Given the description of an element on the screen output the (x, y) to click on. 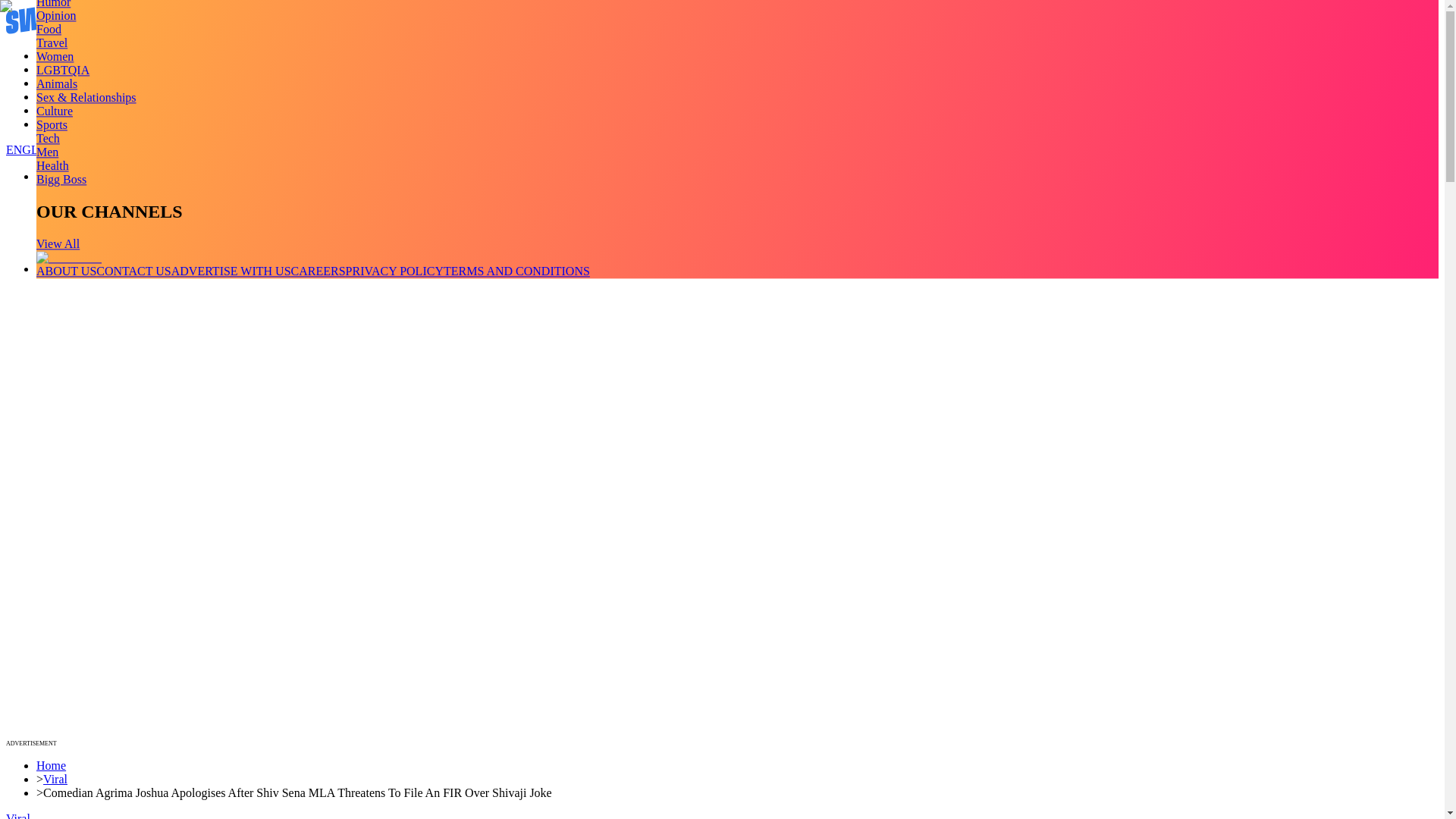
Women (55, 56)
Stories (52, 82)
Bigg Boss (60, 178)
Videos (52, 69)
Memes (53, 110)
Spotlight (58, 123)
Tech (47, 137)
Animals (56, 83)
LGBTQIA (62, 69)
ABOUT US (66, 270)
